Given the description of an element on the screen output the (x, y) to click on. 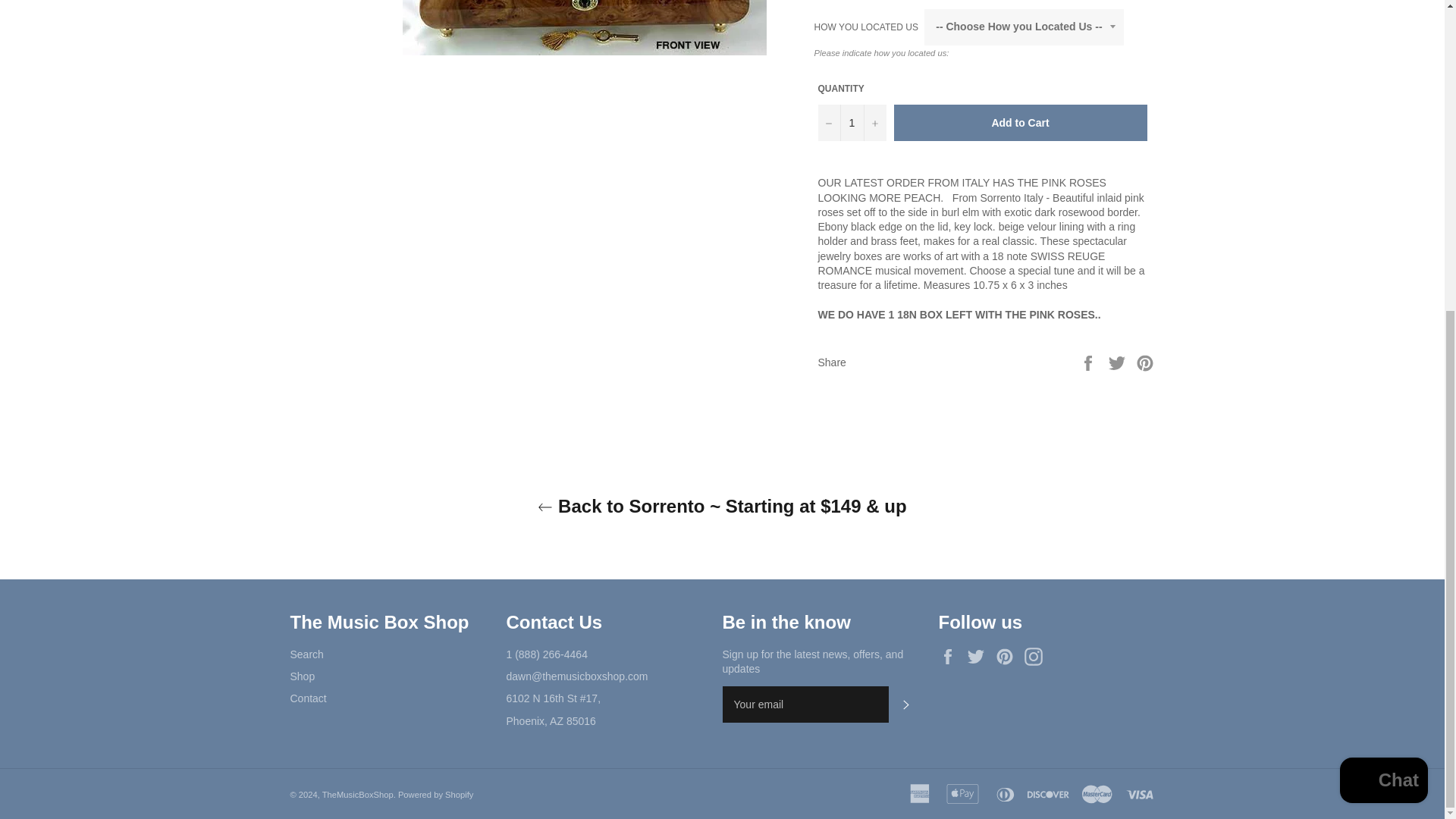
Tweet on Twitter (1118, 361)
TheMusicBoxShop on Facebook (951, 656)
1 (850, 122)
Pin on Pinterest (1144, 361)
Share on Facebook (1089, 361)
TheMusicBoxShop on Pinterest (1008, 656)
TheMusicBoxShop on Instagram (1037, 656)
TheMusicBoxShop on Twitter (979, 656)
Shopify online store chat (1383, 287)
